Given the description of an element on the screen output the (x, y) to click on. 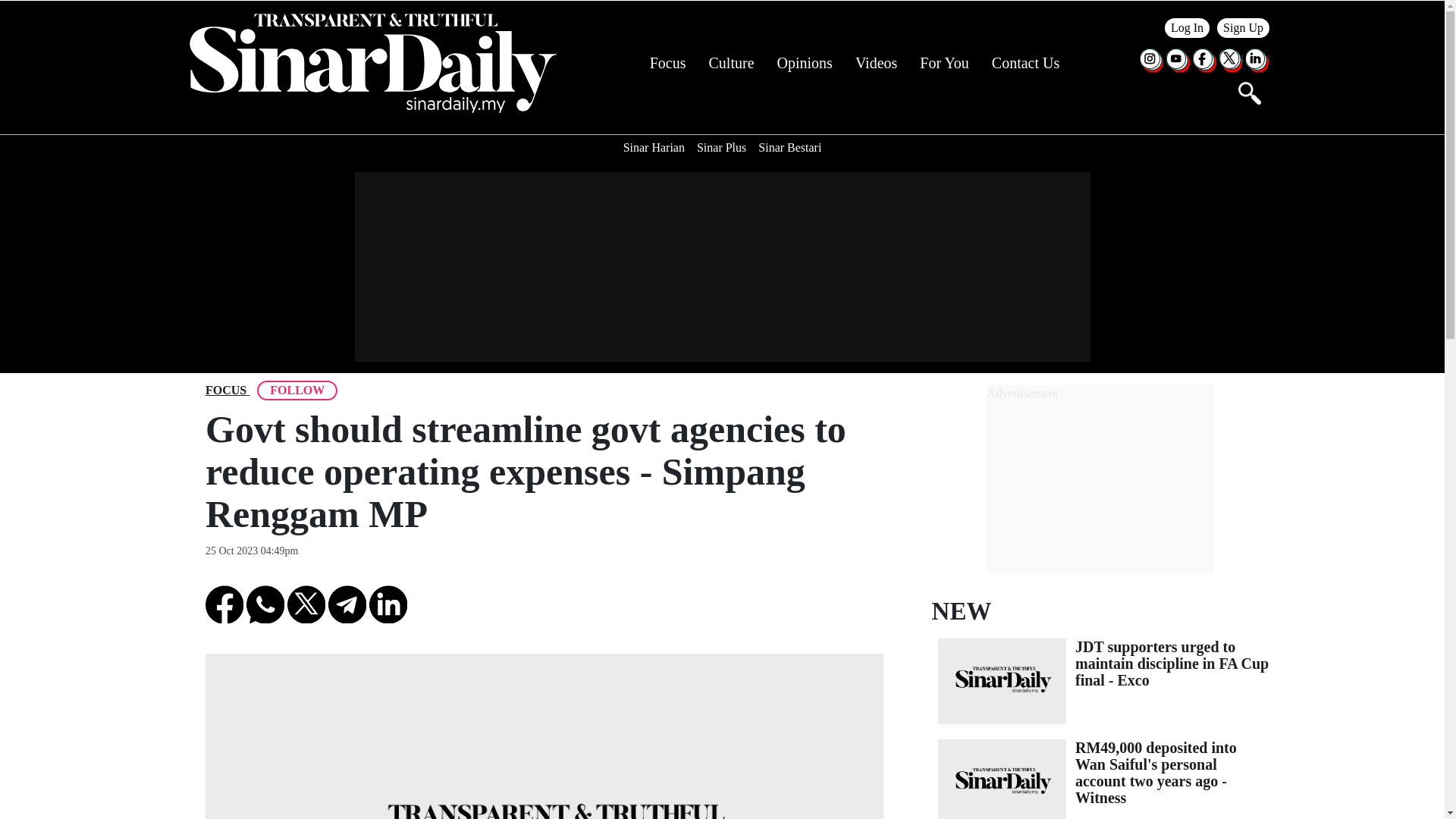
Share on Twitter (305, 604)
For You (944, 63)
Opinions (804, 63)
Sign Up (1243, 27)
Sinar Bestari (789, 147)
Videos (876, 63)
signup (1243, 27)
Sinar Daily (371, 63)
Focus (225, 390)
Sinar Plus (721, 147)
